Given the description of an element on the screen output the (x, y) to click on. 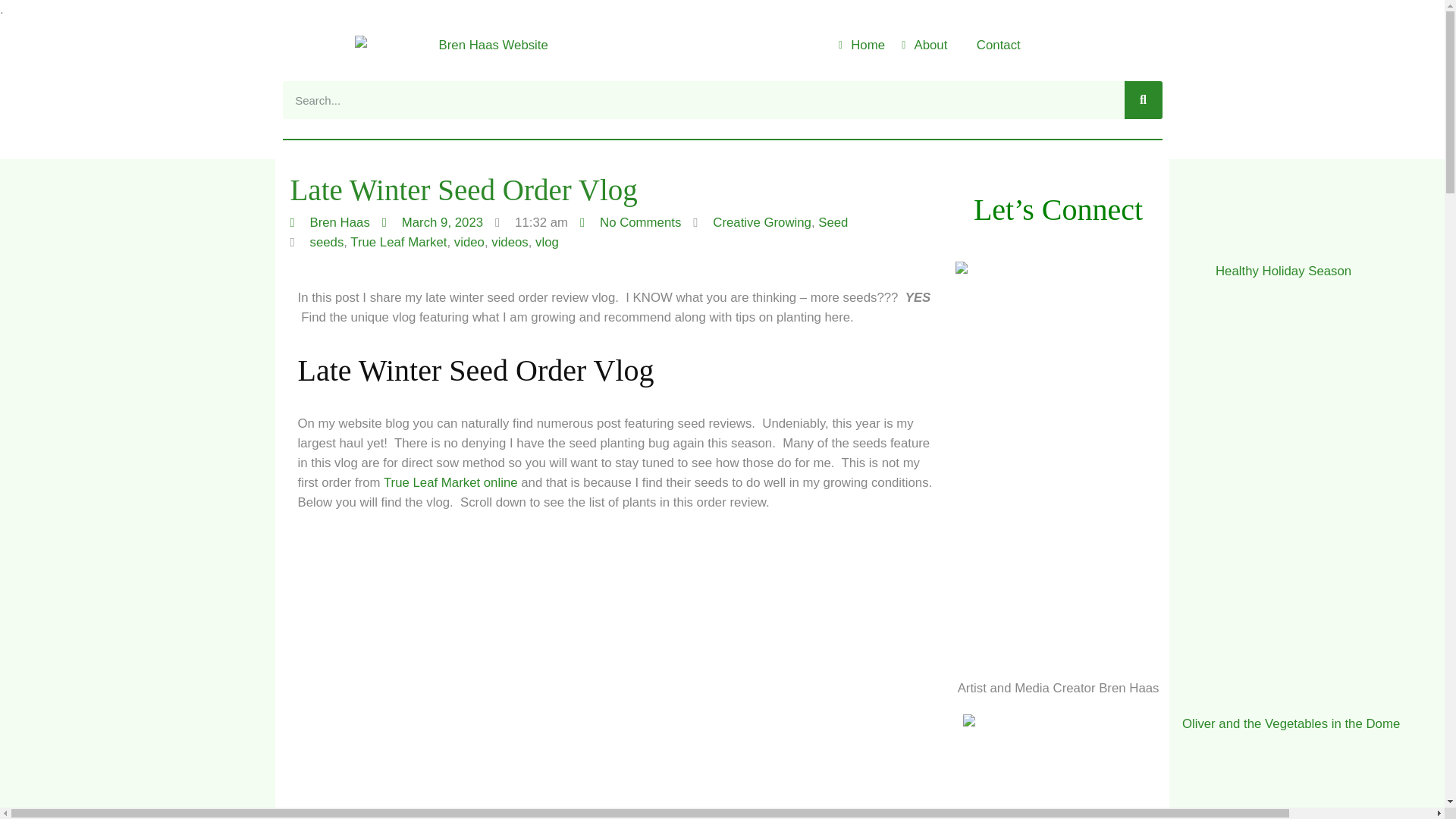
Seed (832, 222)
True Leaf Market (398, 242)
Contact (989, 45)
video (469, 242)
Bren Haas (329, 222)
Home (859, 45)
March 9, 2023 (432, 222)
videos (510, 242)
Creative Growing (761, 222)
vlog (547, 242)
